Given the description of an element on the screen output the (x, y) to click on. 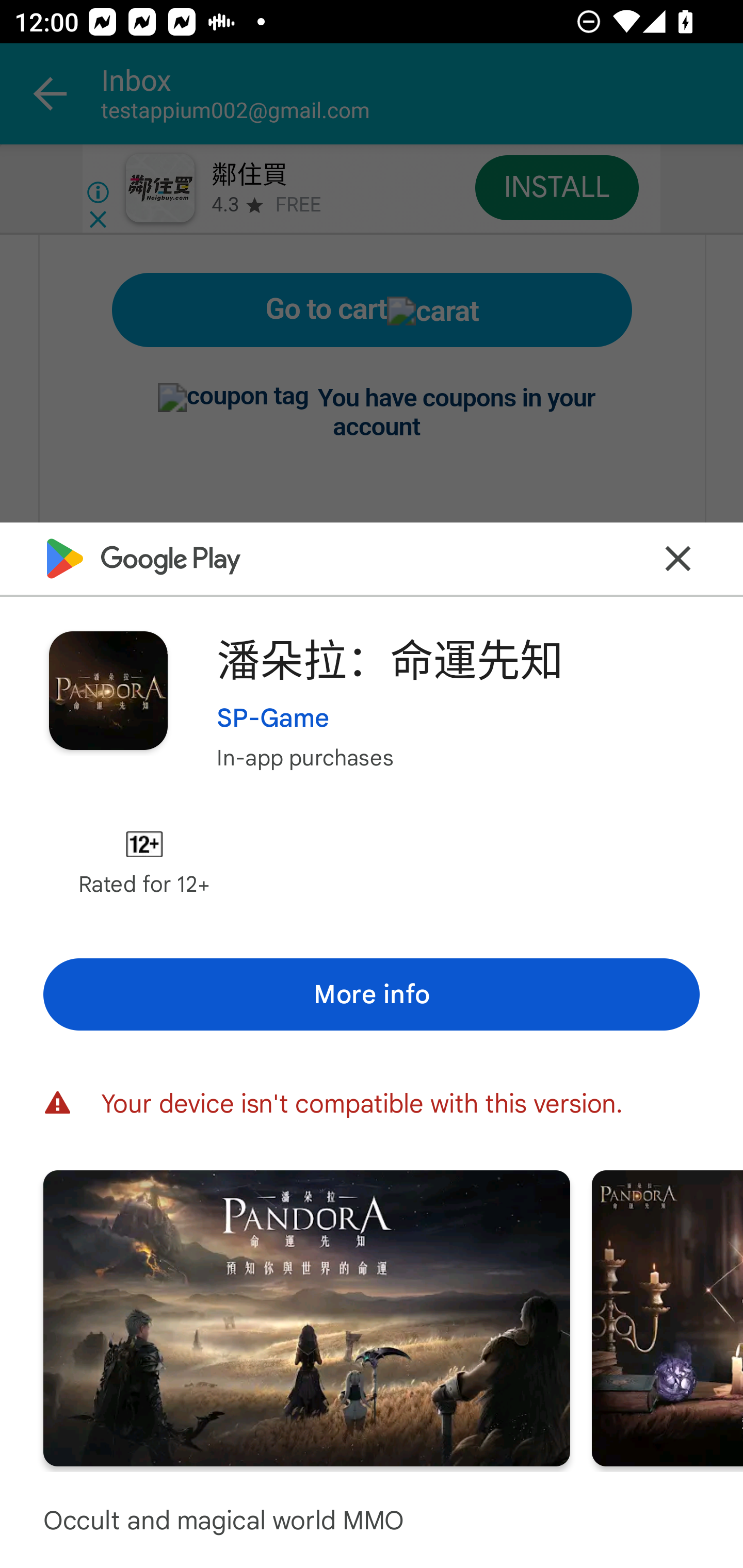
Close (677, 558)
Image of app or game icon for 潘朵拉：命運先知 (108, 690)
SP-Game (272, 716)
More info (371, 994)
Screenshot "1" of "6" (306, 1317)
